Given the description of an element on the screen output the (x, y) to click on. 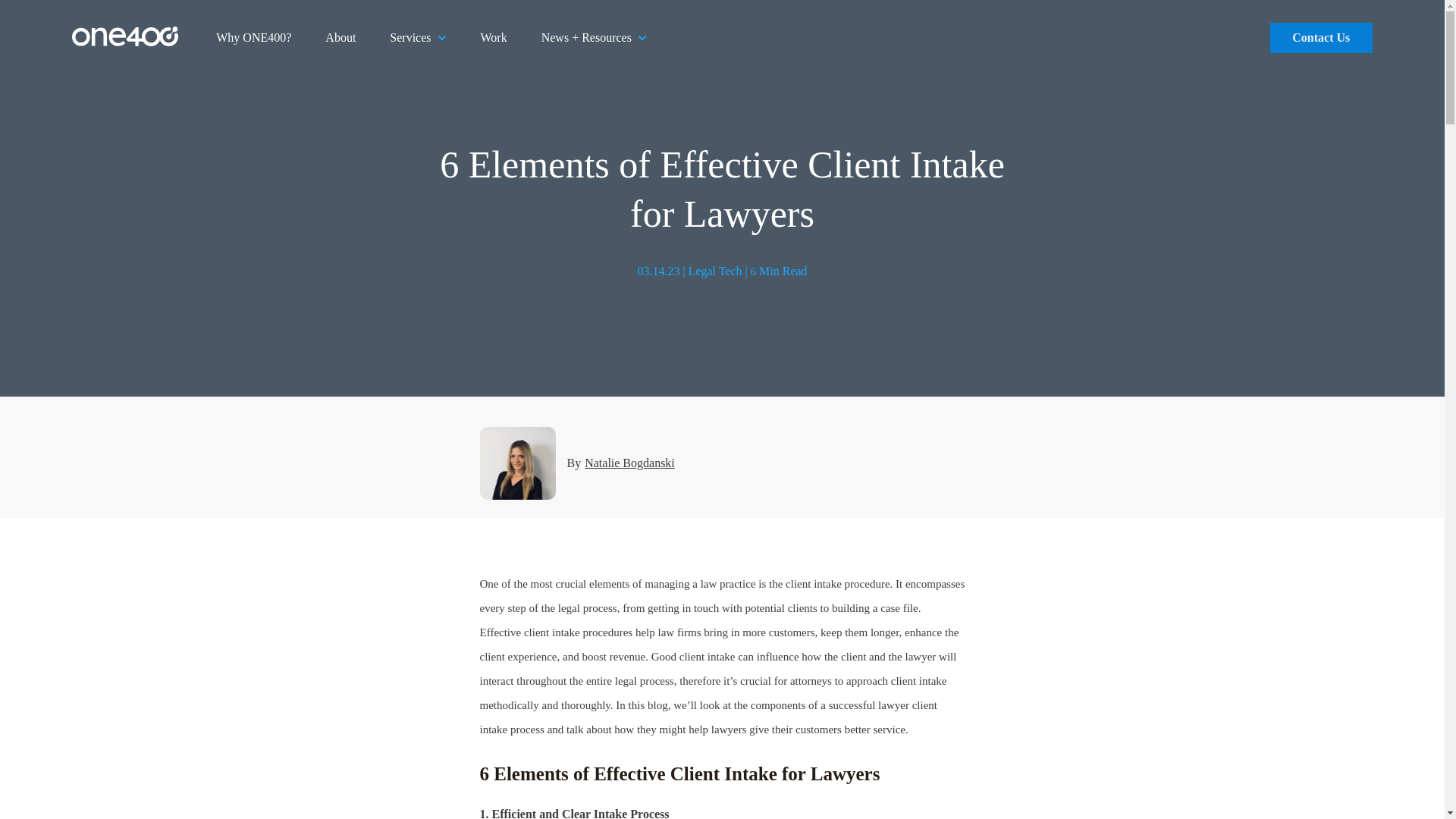
Site Logo (124, 42)
About (339, 37)
Work (493, 37)
Contact Us (1321, 37)
Why ONE400? (253, 37)
Services (417, 37)
